Given the description of an element on the screen output the (x, y) to click on. 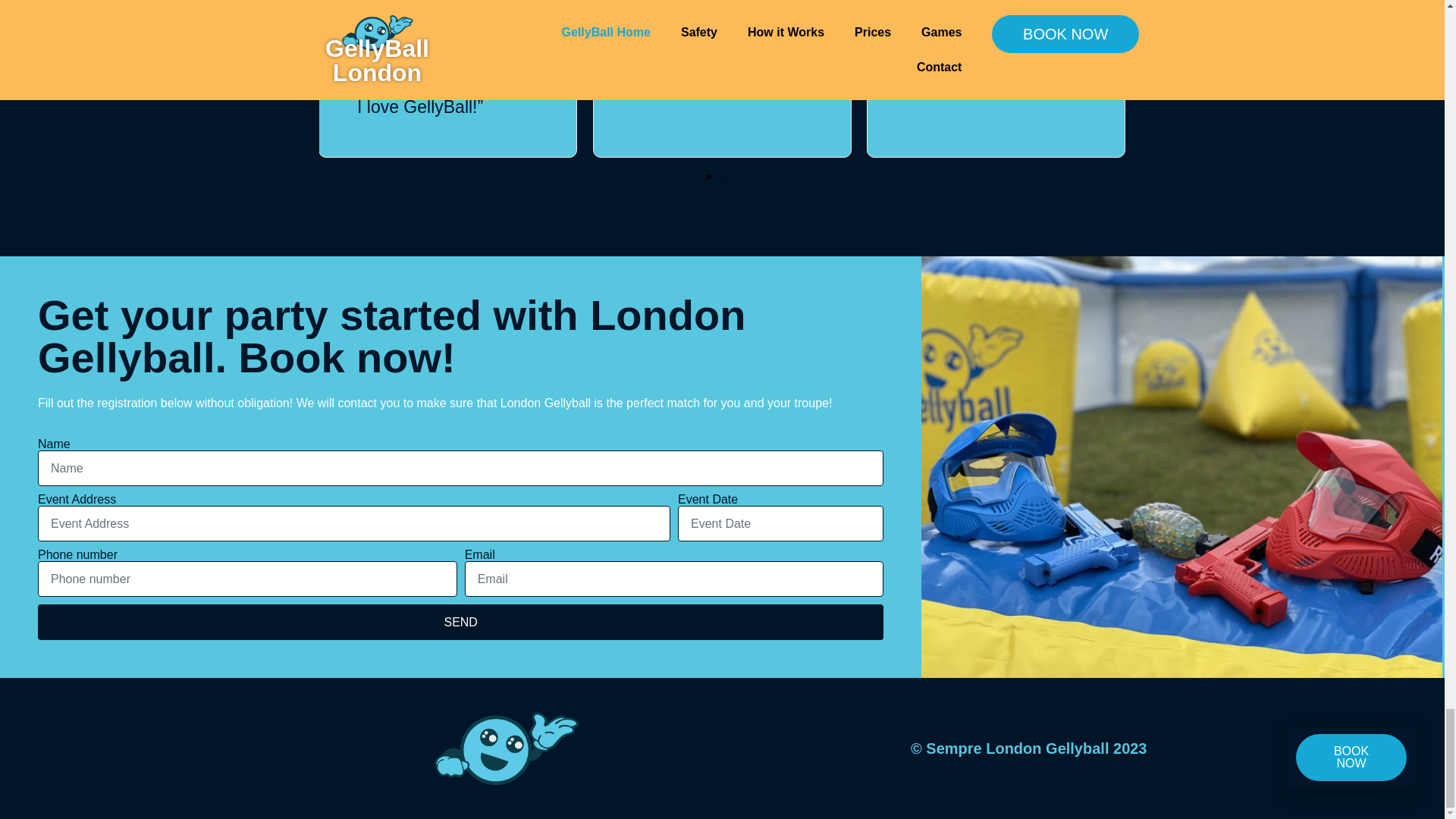
SEND (460, 621)
